Given the description of an element on the screen output the (x, y) to click on. 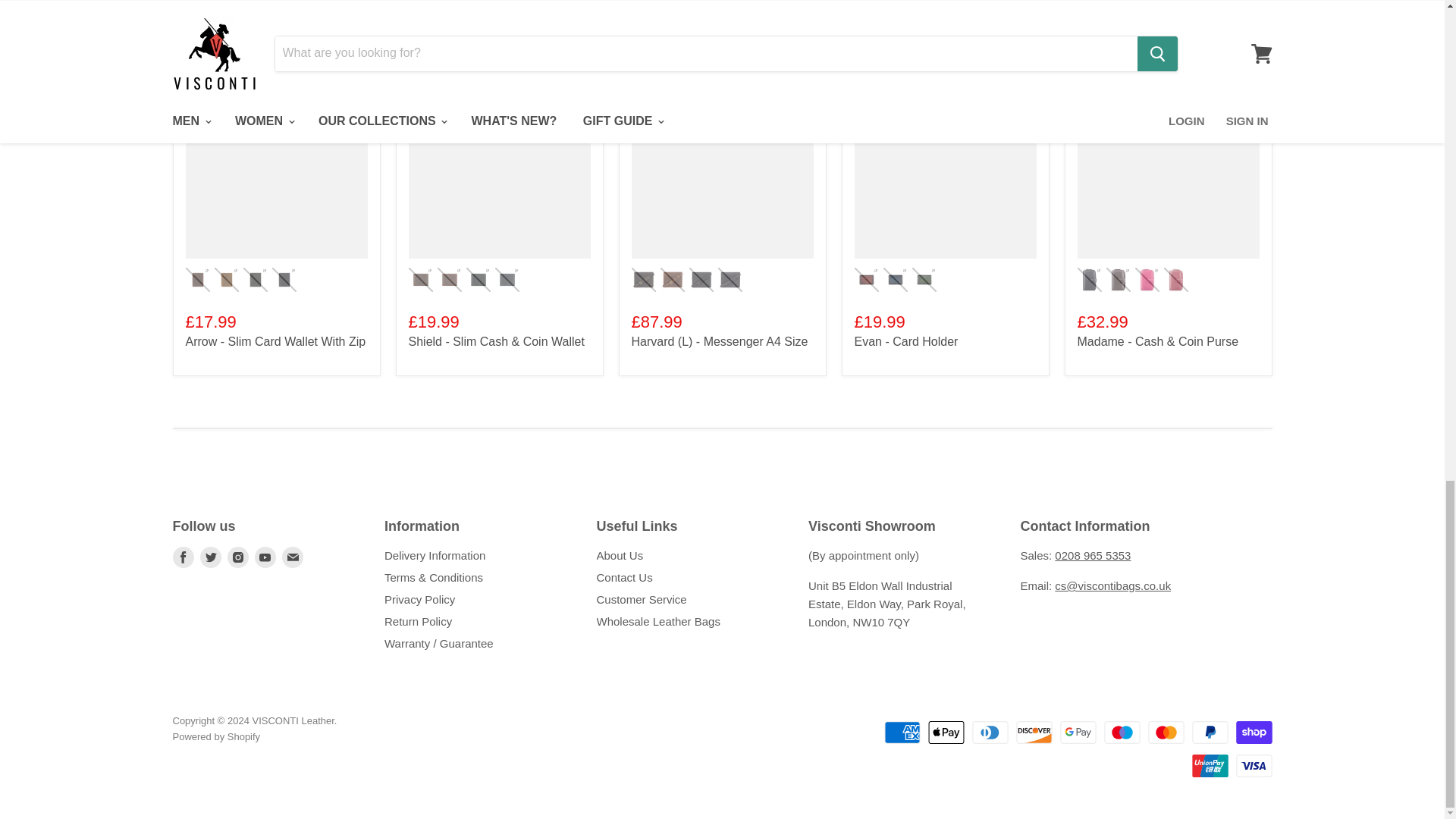
Twitter (210, 556)
Instagram (237, 556)
Youtube (265, 556)
Facebook (183, 556)
E-mail (292, 556)
American Express (901, 732)
